Given the description of an element on the screen output the (x, y) to click on. 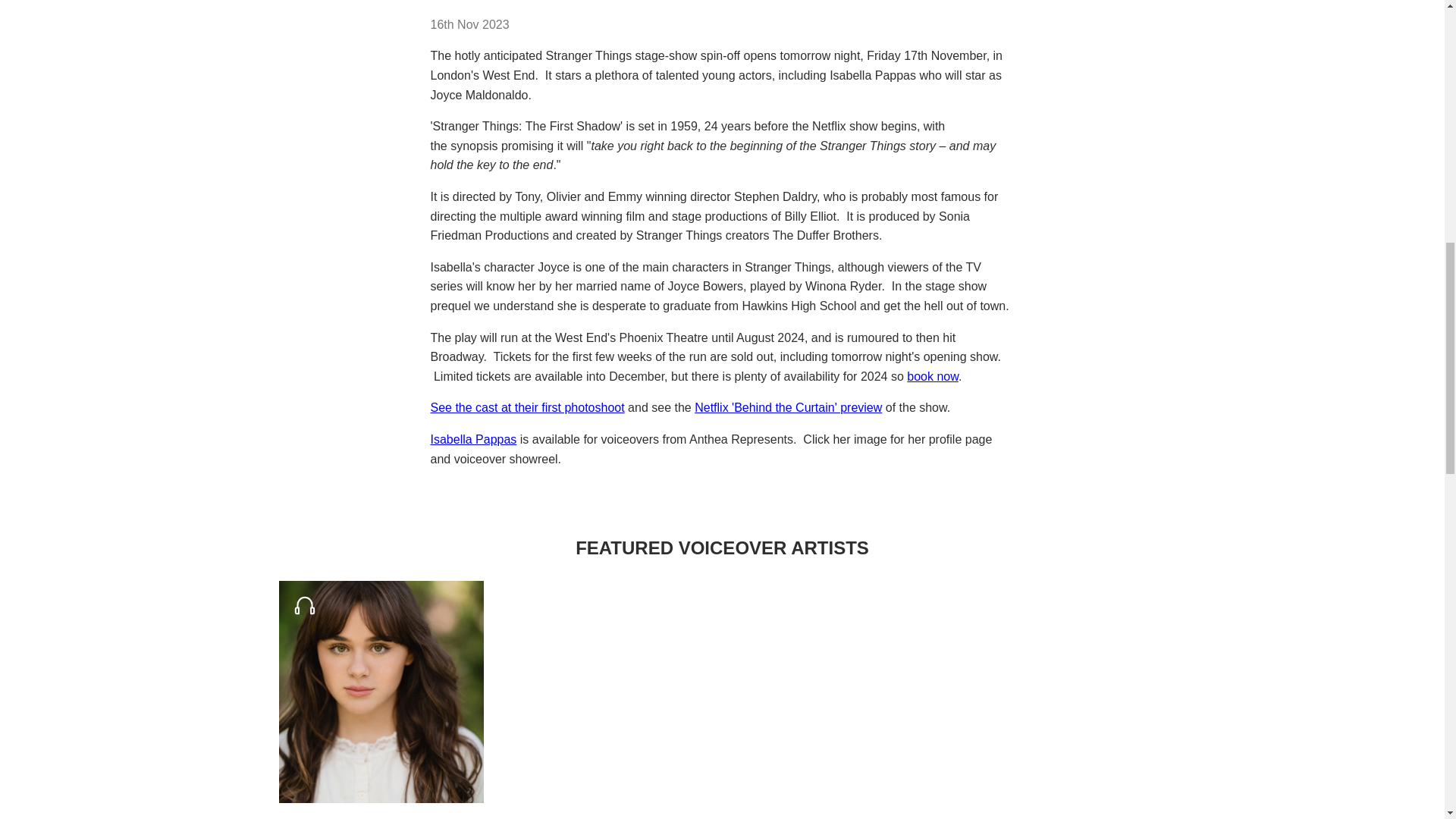
Headphone icon (304, 605)
book now (932, 376)
Netflix 'Behind the Curtain' preview (788, 407)
Isabella Pappas (473, 439)
See the cast at their first photoshoot (527, 407)
Headphone icon (304, 604)
